Given the description of an element on the screen output the (x, y) to click on. 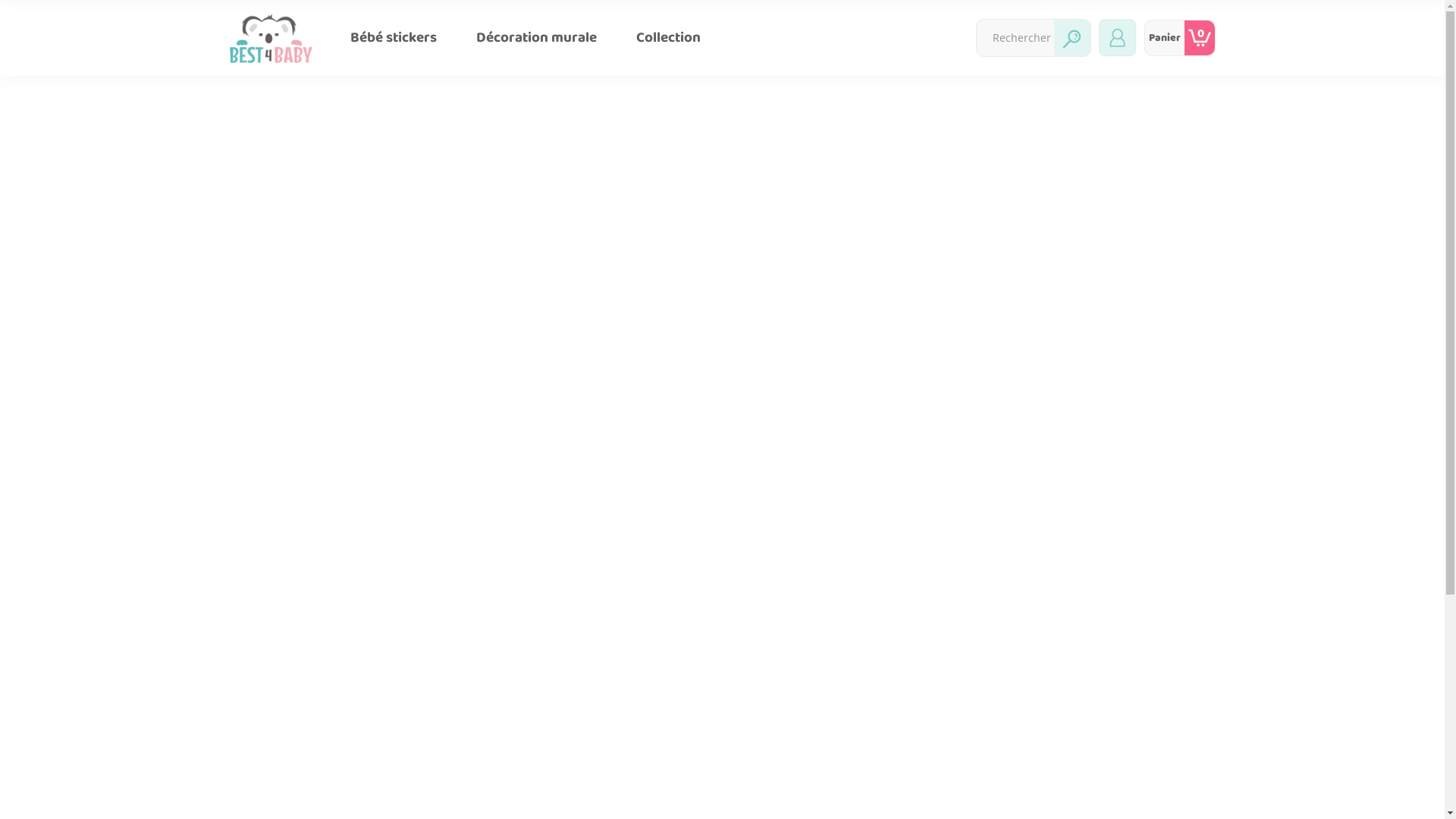
ACCUEIL Element type: text (269, 95)
Panier
0 Element type: text (1178, 37)
Search for: Element type: hover (1015, 37)
Collection Element type: text (668, 37)
